Given the description of an element on the screen output the (x, y) to click on. 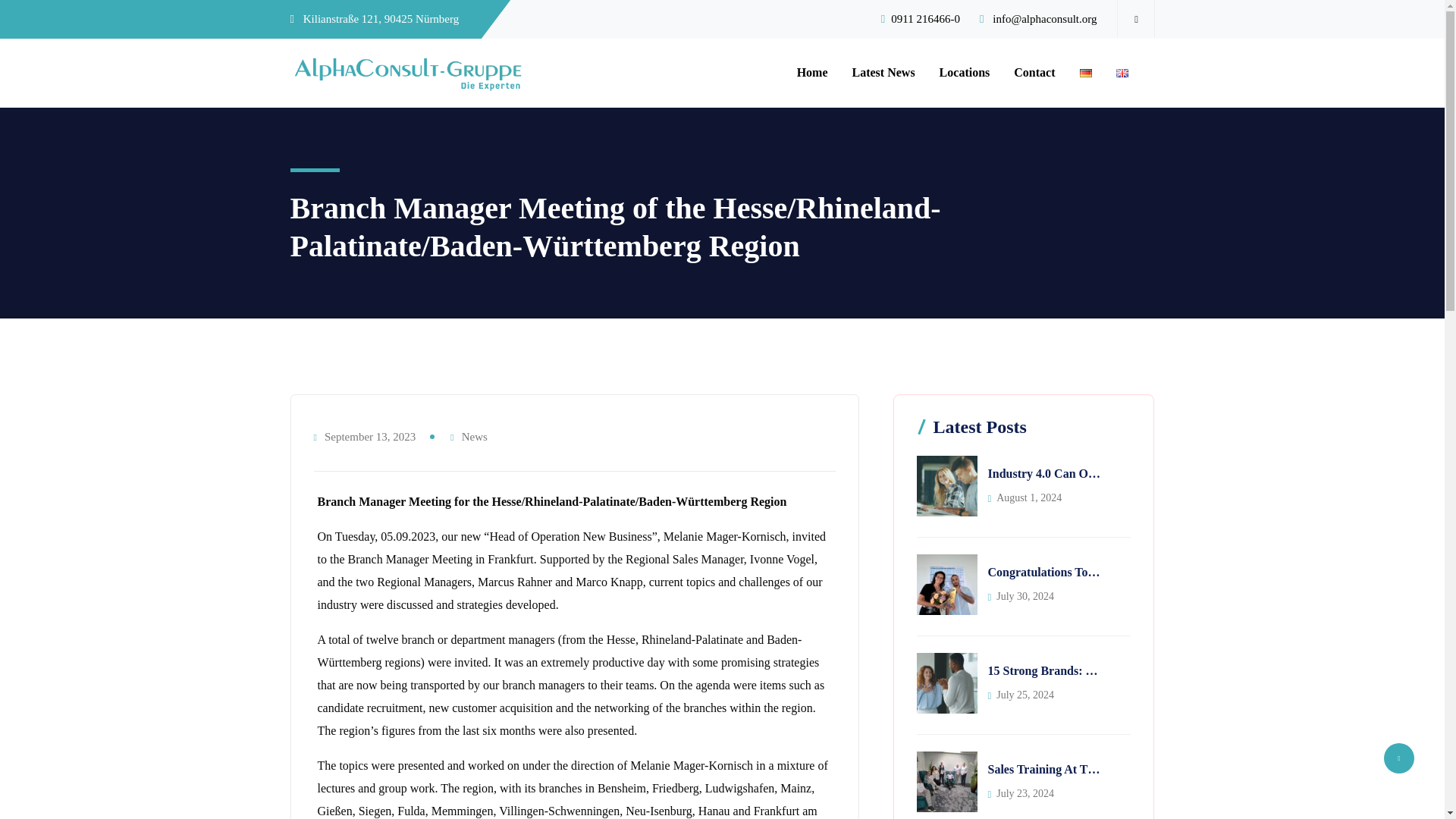
15 Strong Brands: Our Recipe For Your Success (1044, 670)
Locations (965, 72)
Latest News (883, 72)
Contact (1034, 72)
AlphaConsult Gruppe (407, 73)
AlphaConsult Gruppe (407, 72)
September 13, 2023 (369, 436)
0911 216466-0 (925, 19)
Industry 4.0 Can Only Succeed With The Right People (1044, 474)
News (474, 436)
